Given the description of an element on the screen output the (x, y) to click on. 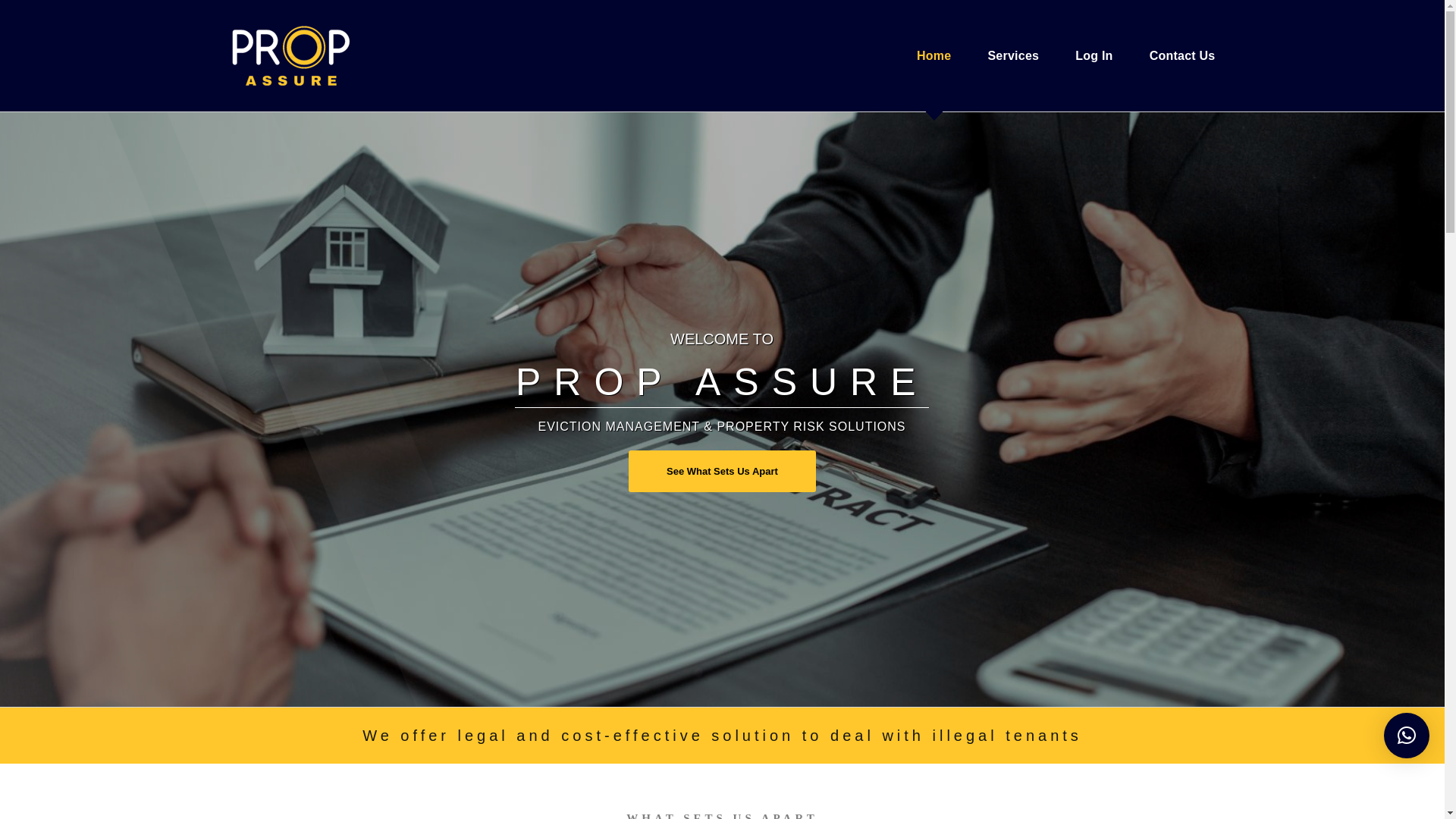
See What Sets Us Apart (721, 471)
